Given the description of an element on the screen output the (x, y) to click on. 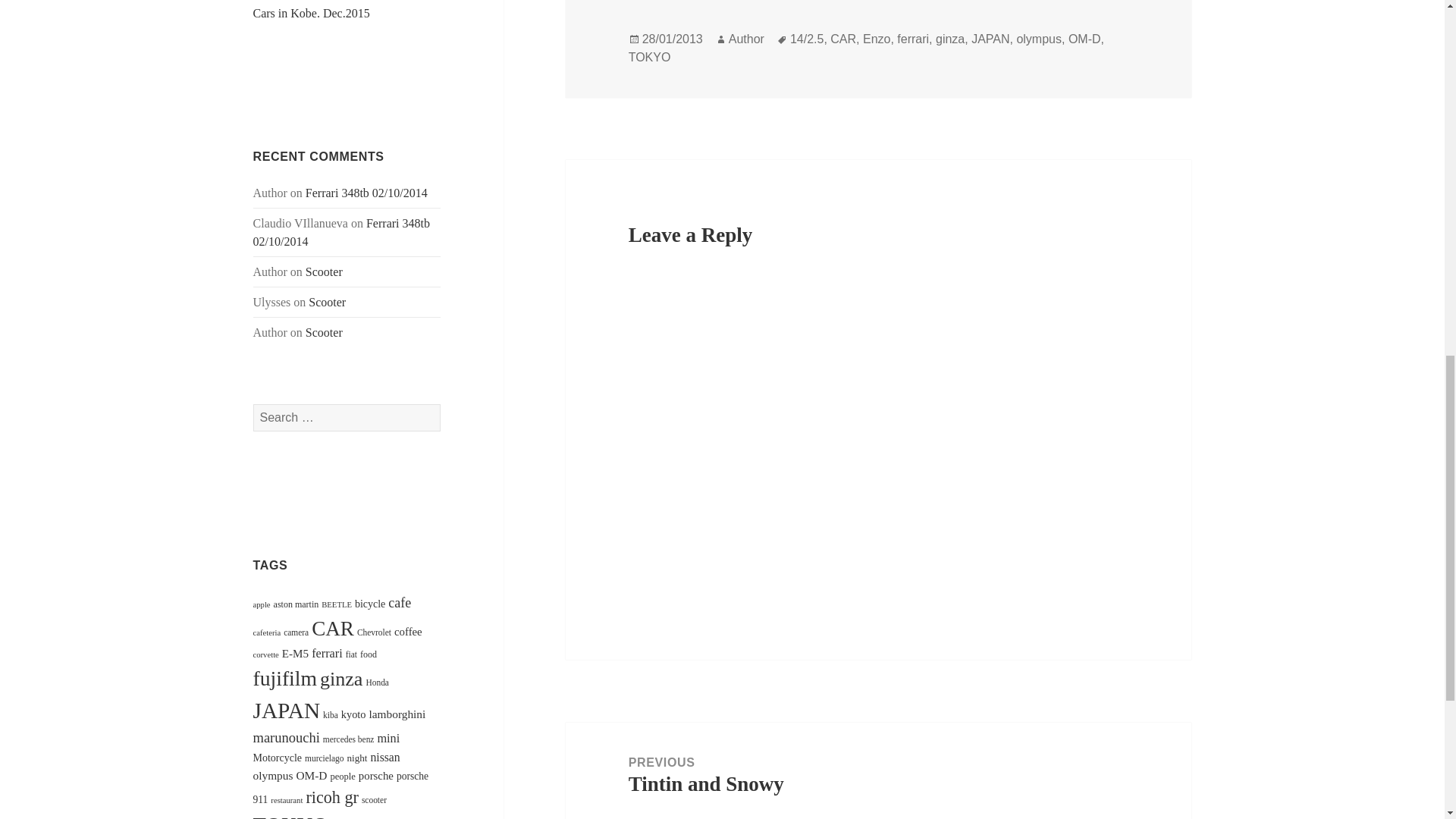
coffee (408, 631)
Scooter (327, 301)
fiat (351, 654)
camera (295, 632)
Honda (376, 682)
CAR (332, 628)
Scooter (323, 271)
food (368, 654)
E-M5 (295, 653)
